Given the description of an element on the screen output the (x, y) to click on. 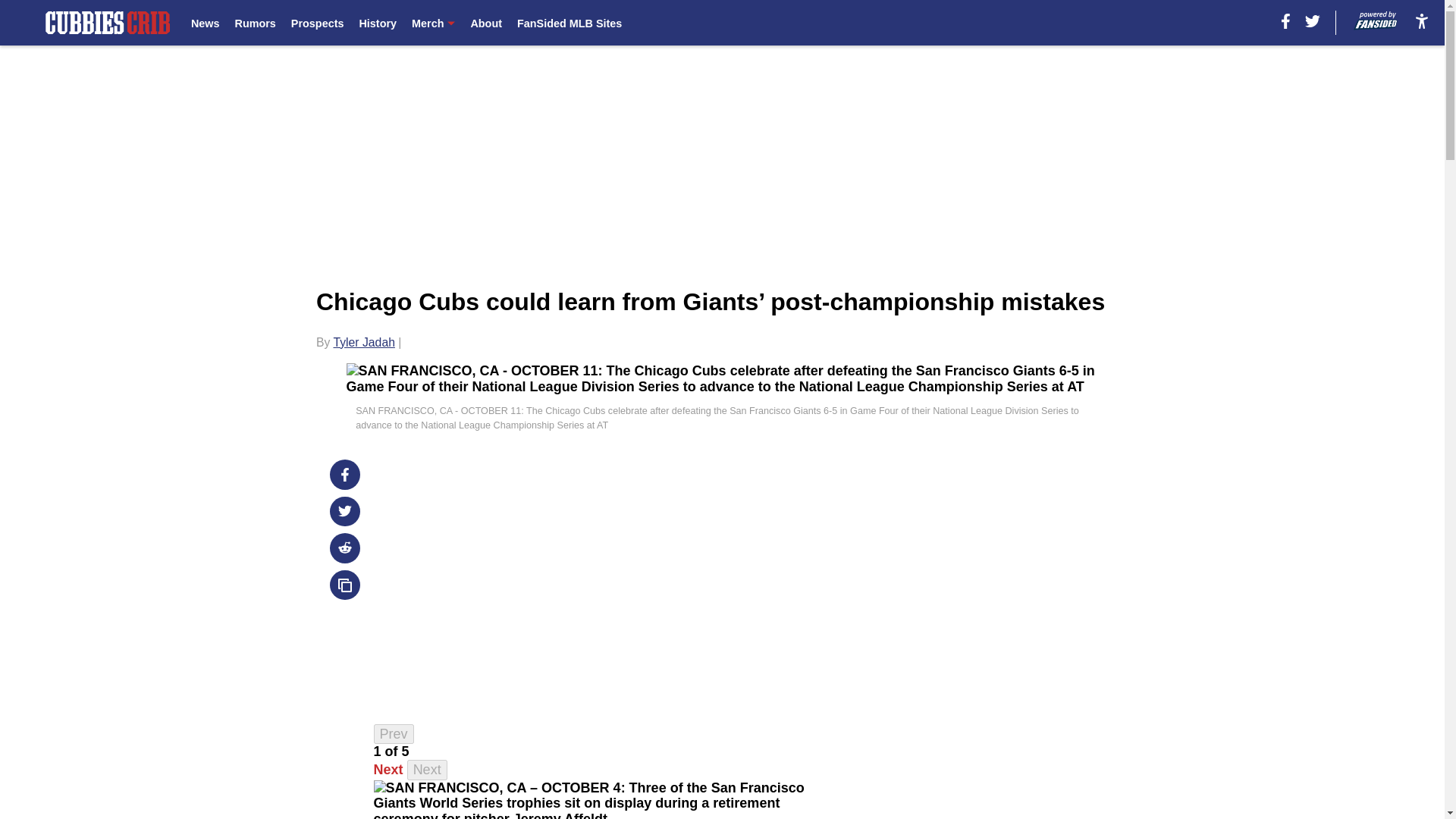
Next (426, 770)
Prospects (317, 23)
History (377, 23)
FanSided MLB Sites (568, 23)
Next (388, 769)
Tyler Jadah (363, 341)
Prev (393, 733)
News (204, 23)
Rumors (254, 23)
About (486, 23)
